Given the description of an element on the screen output the (x, y) to click on. 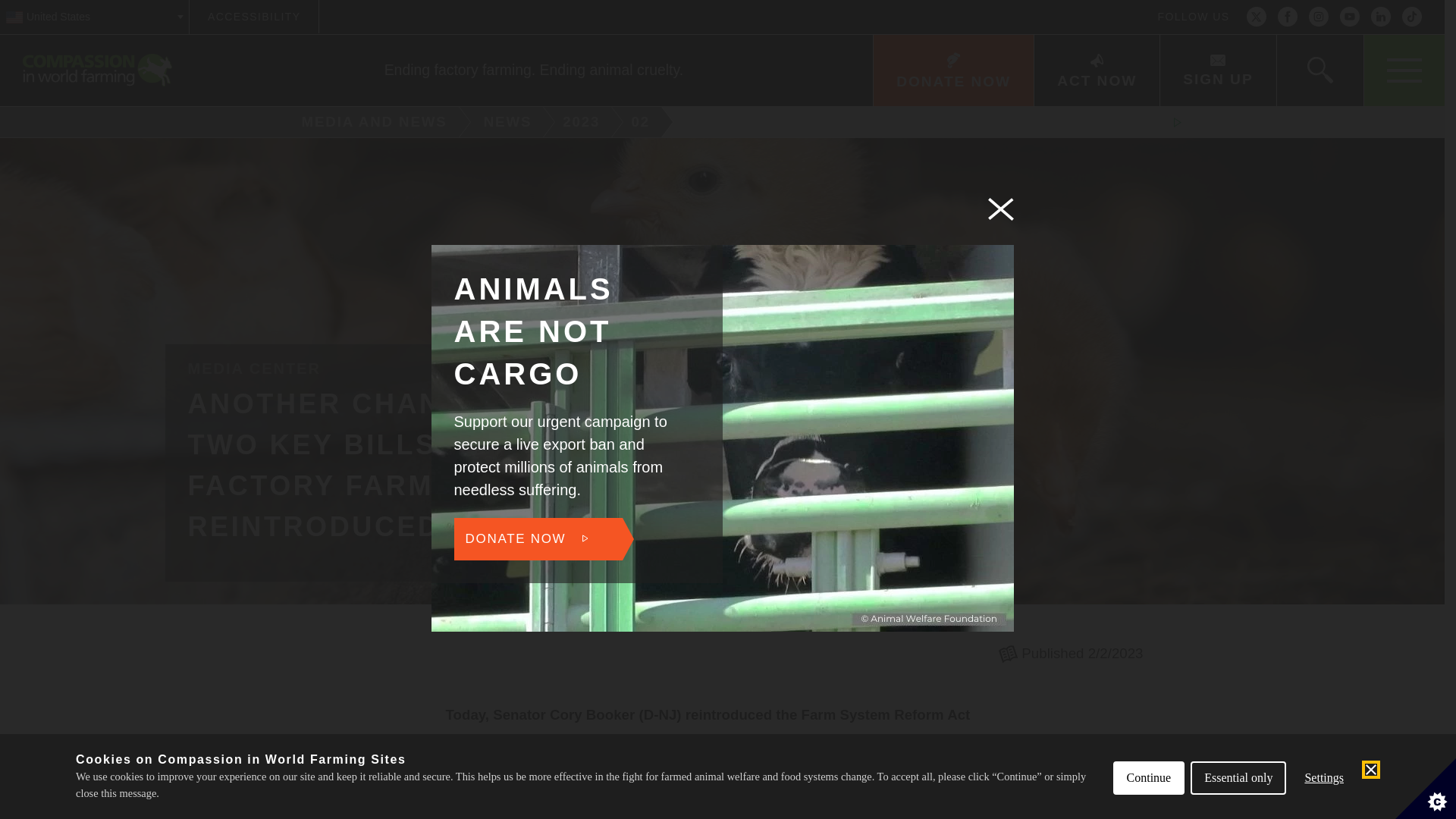
LinkedIn (1380, 16)
ACCESSIBILITY (253, 16)
2023 (583, 122)
NEWS (510, 122)
TikTok (1412, 16)
Twitter (1255, 16)
Skip to Content (778, 1)
Instagram (1318, 16)
United States (94, 16)
DONATE NOW (952, 70)
MEDIA AND NEWS (368, 122)
02 (722, 122)
YouTube (642, 122)
ACT NOW (1350, 16)
